Given the description of an element on the screen output the (x, y) to click on. 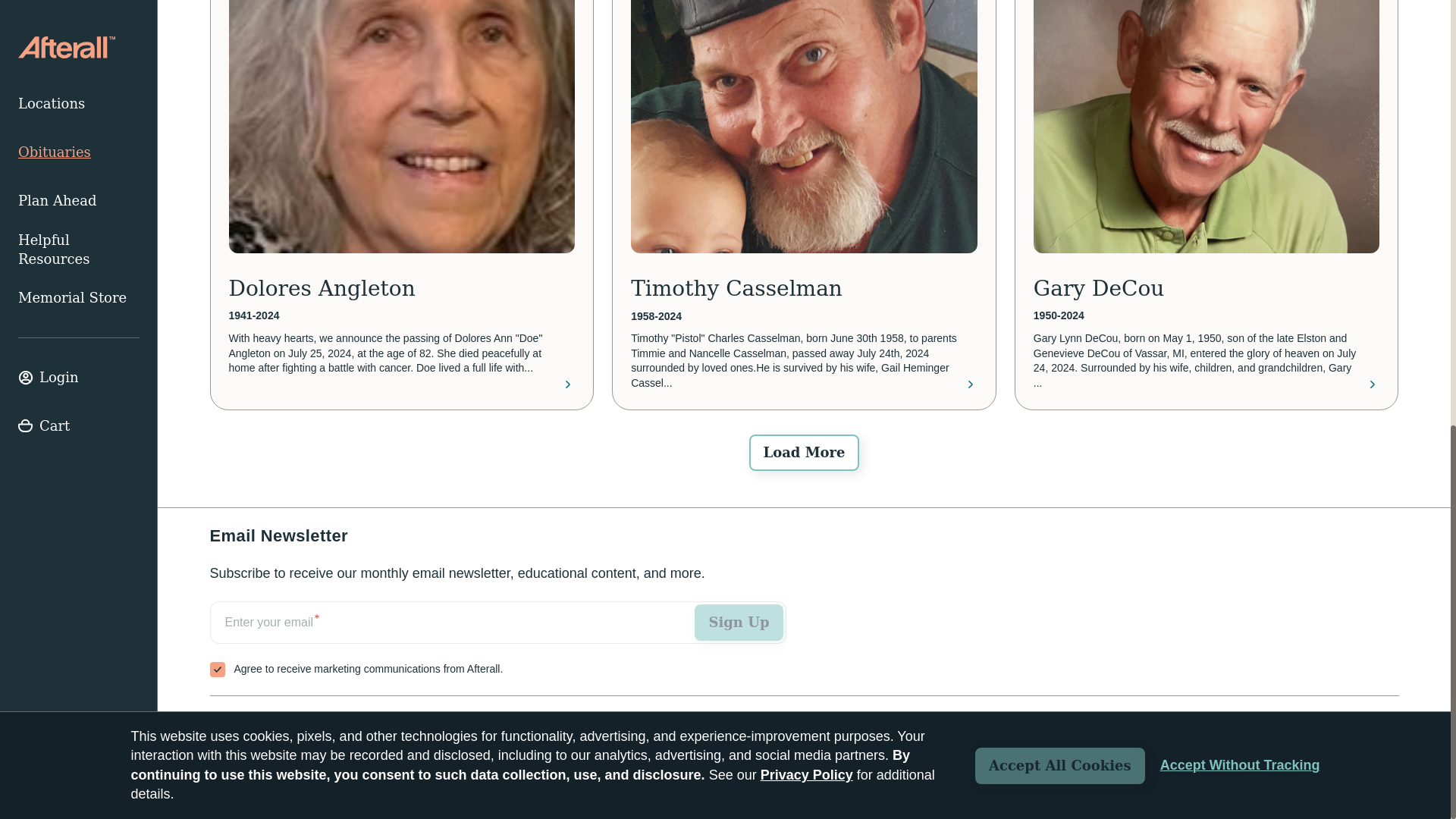
Sign Up (738, 622)
Privacy Policy (1362, 776)
Load More (804, 452)
Email Newsletter (497, 639)
Track an Order (257, 723)
FAQs (341, 723)
